Given the description of an element on the screen output the (x, y) to click on. 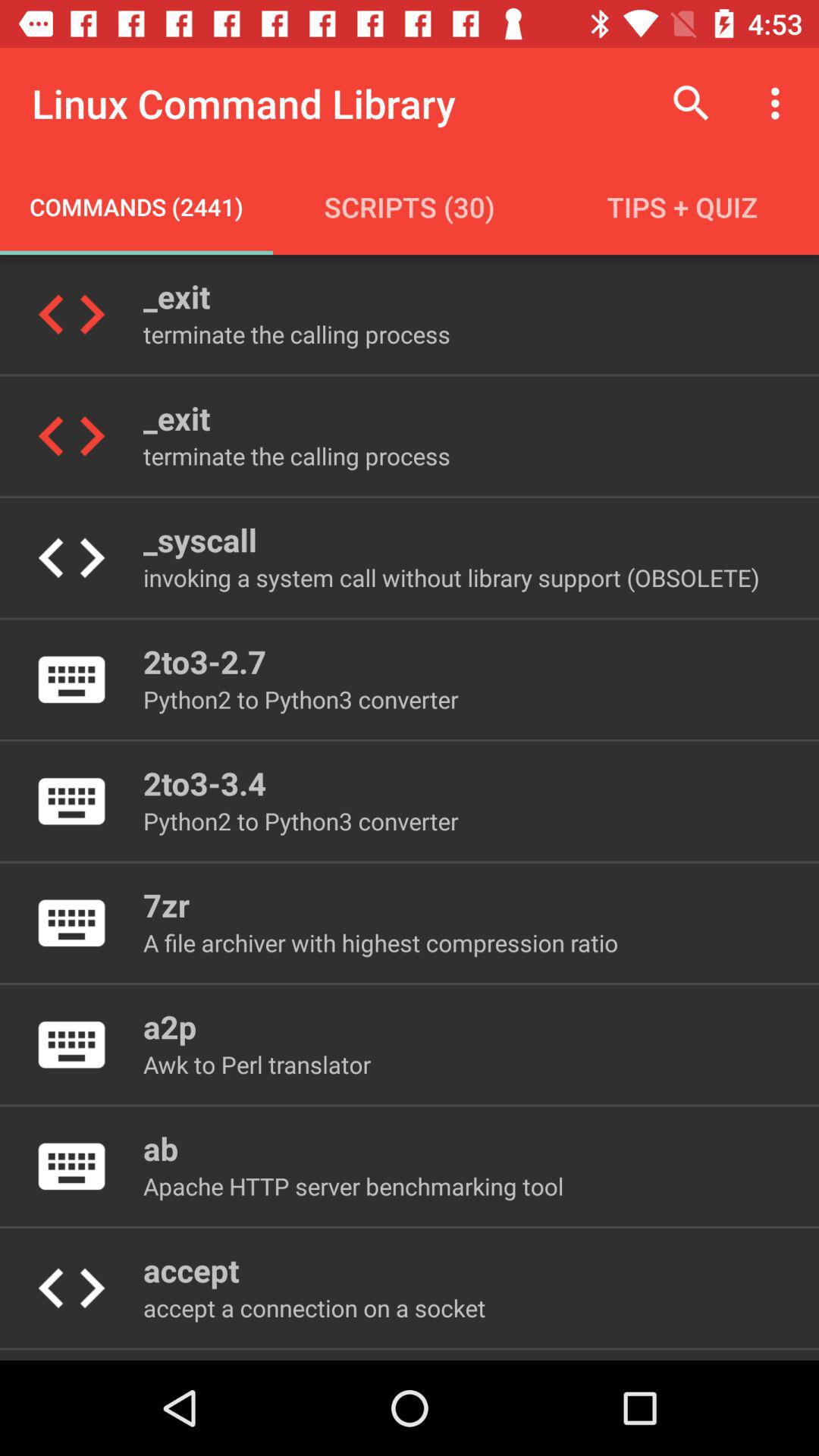
tap icon below the accept (314, 1307)
